Given the description of an element on the screen output the (x, y) to click on. 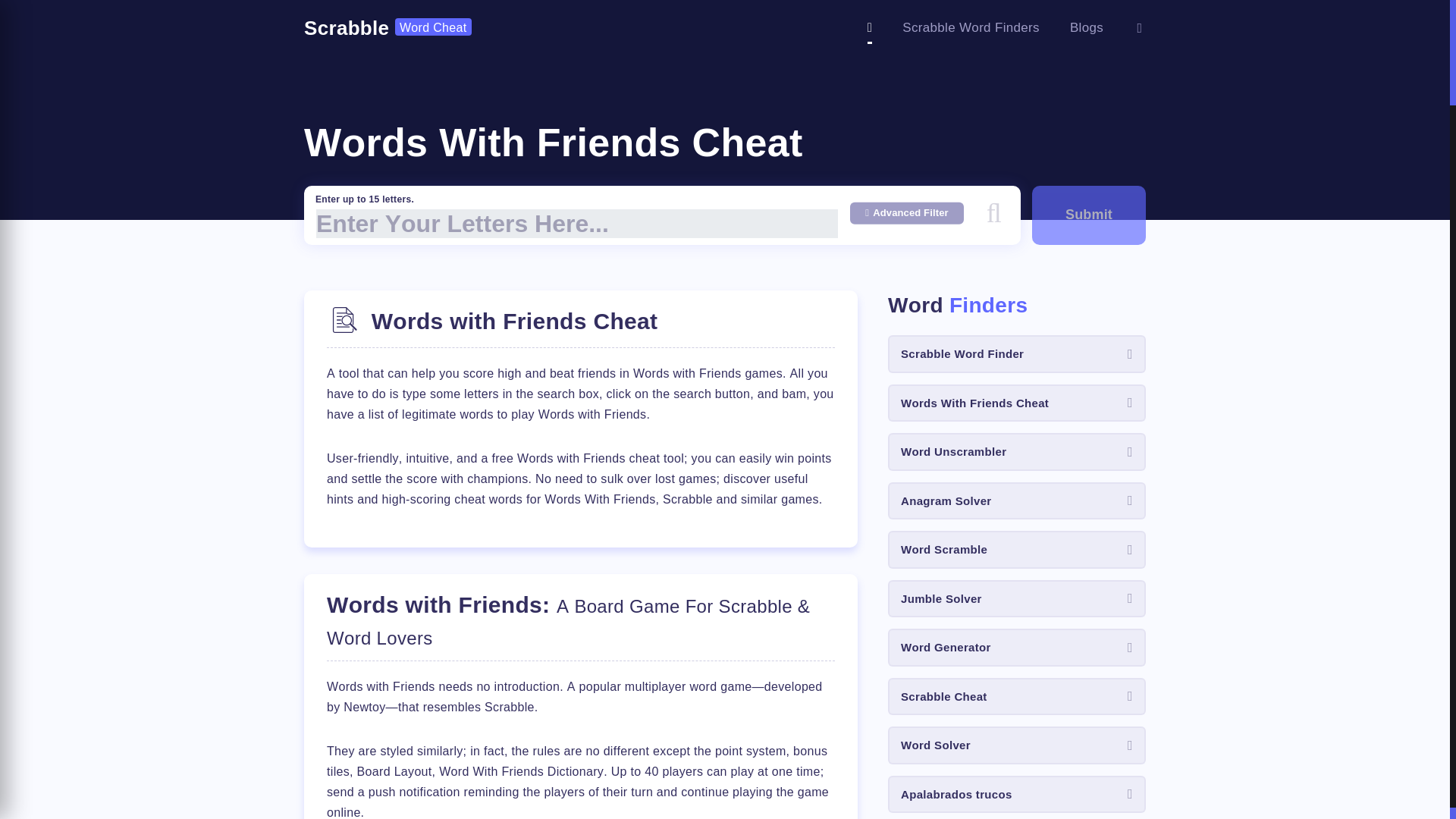
Word Solver (1016, 745)
Advanced Filter (906, 213)
Word Scramble (1016, 549)
Submit (1088, 214)
Blogs (1086, 28)
Scrabble Word Finder (1016, 353)
Anagram Solver (1016, 501)
Jumble Solver (1016, 598)
Submit (1088, 214)
Scrabble Cheat (1016, 696)
Word Unscrambler (1016, 451)
Scrabble Word Finders (970, 28)
Scrabble Word Cheat (387, 28)
Word Generator (1016, 647)
Words With Friends Cheat (1016, 403)
